Given the description of an element on the screen output the (x, y) to click on. 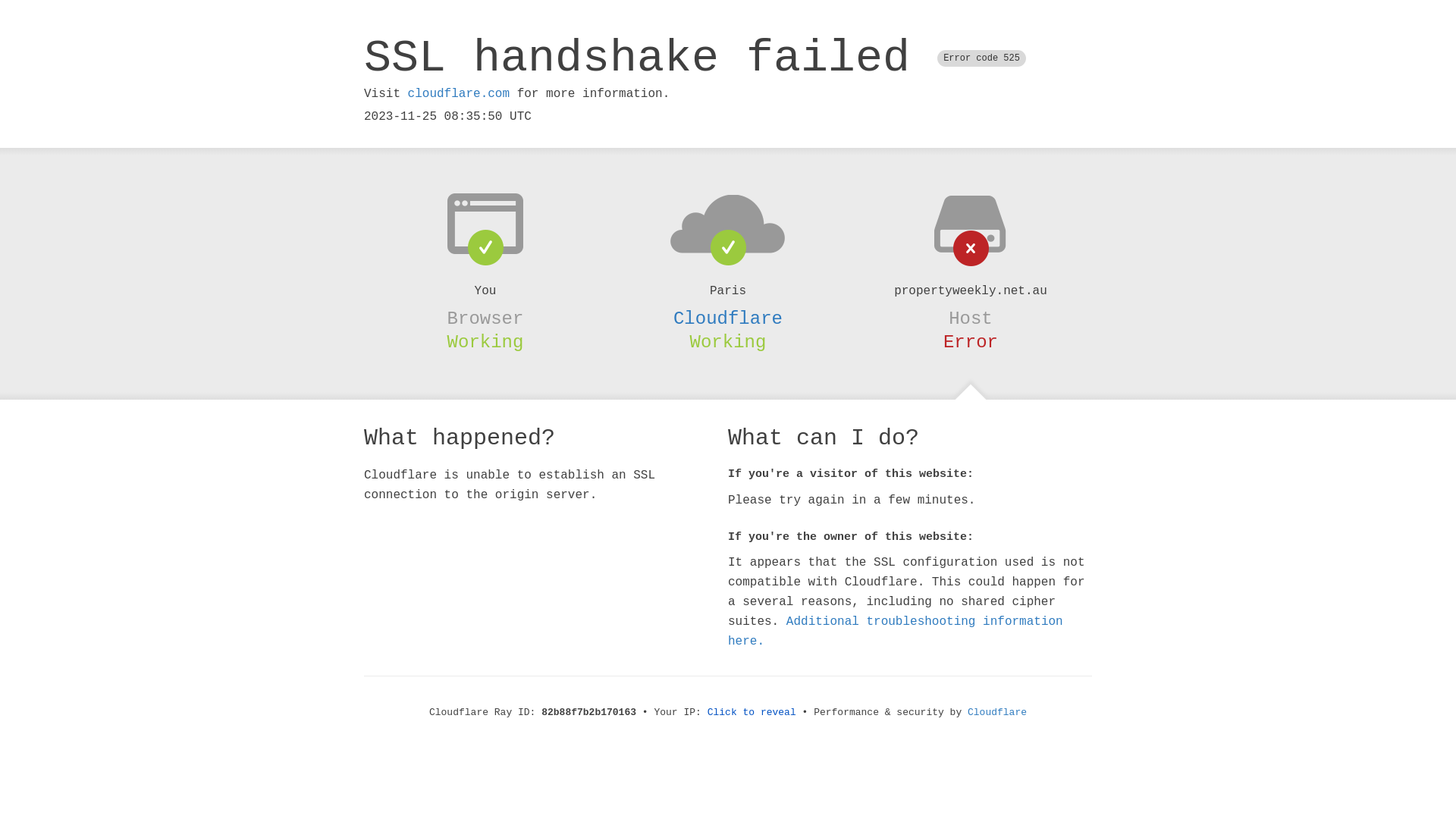
cloudflare.com Element type: text (458, 93)
Cloudflare Element type: text (727, 318)
Cloudflare Element type: text (996, 712)
Additional troubleshooting information here. Element type: text (895, 631)
Click to reveal Element type: text (751, 712)
